Given the description of an element on the screen output the (x, y) to click on. 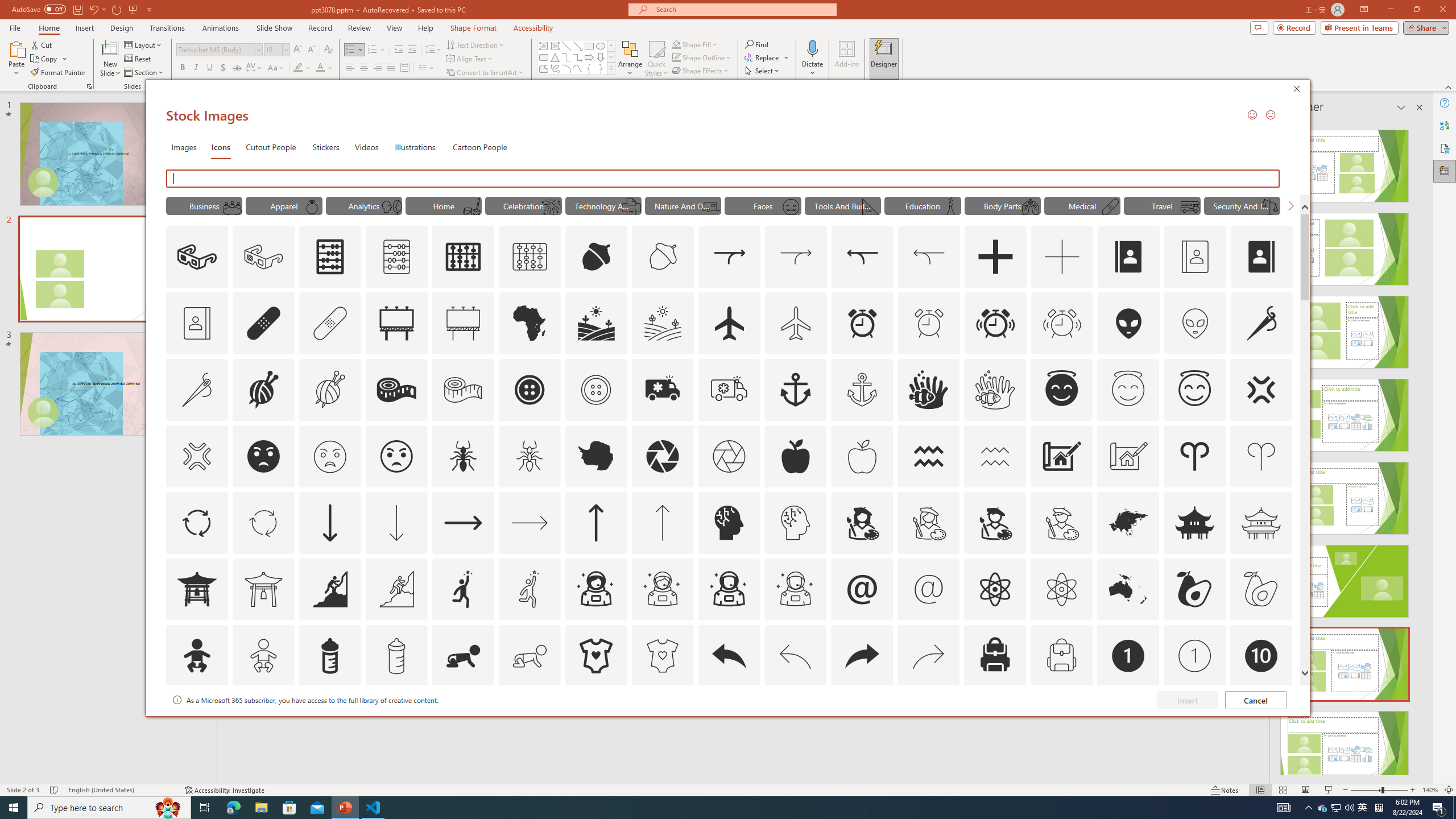
AutomationID: Icons_AlterationsTailoring1 (263, 389)
Format Painter (58, 72)
AutomationID: Icons_AstronautMale_M (795, 588)
AutomationID: Icons_ArtistFemale_M (928, 522)
AutomationID: Icons_MoustacheFace_M (790, 206)
AutomationID: Icons_Aquarius (928, 455)
